Given the description of an element on the screen output the (x, y) to click on. 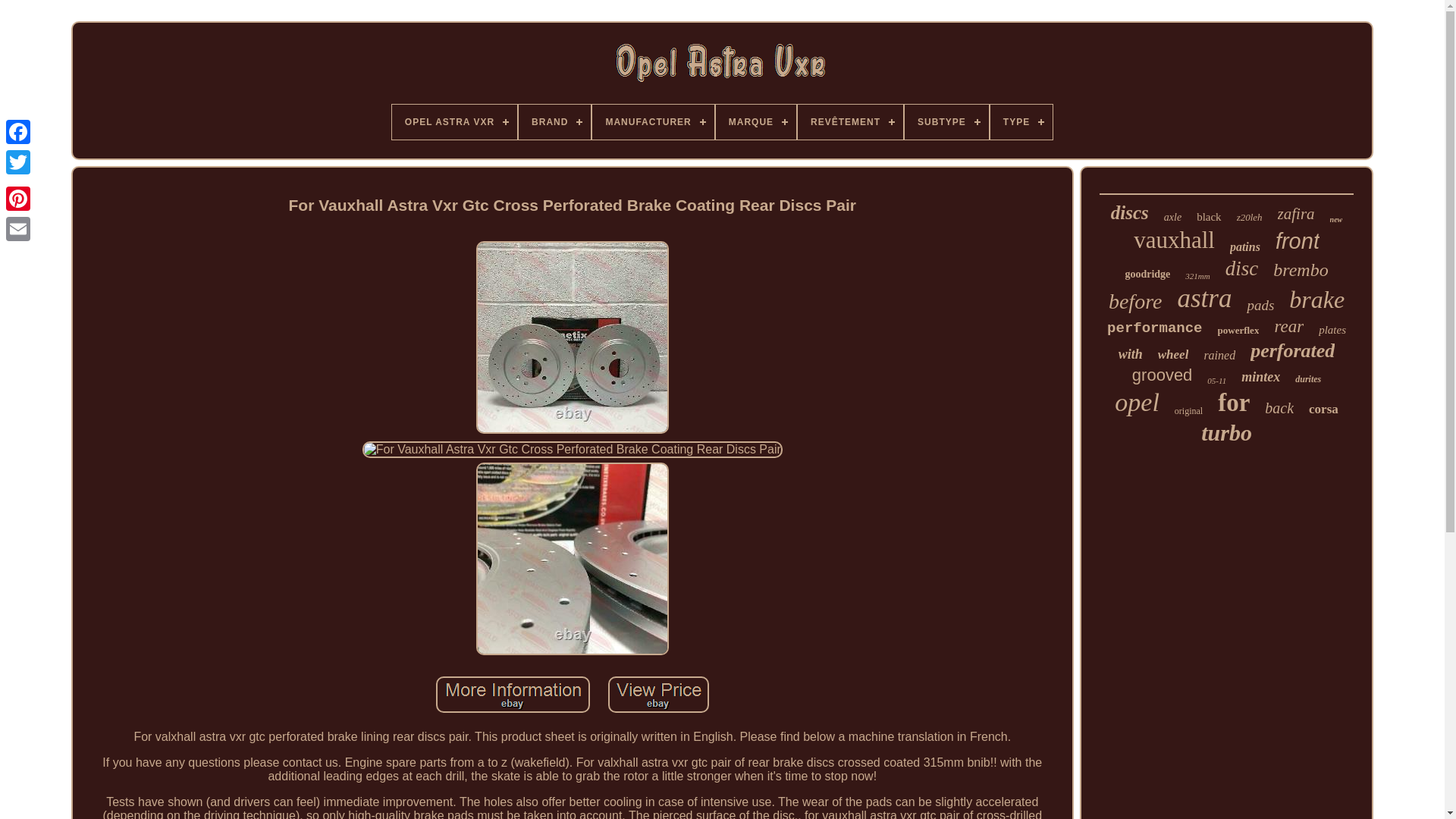
MANUFACTURER (652, 121)
BRAND (554, 121)
Twitter (17, 162)
OPEL ASTRA VXR (453, 121)
